Given the description of an element on the screen output the (x, y) to click on. 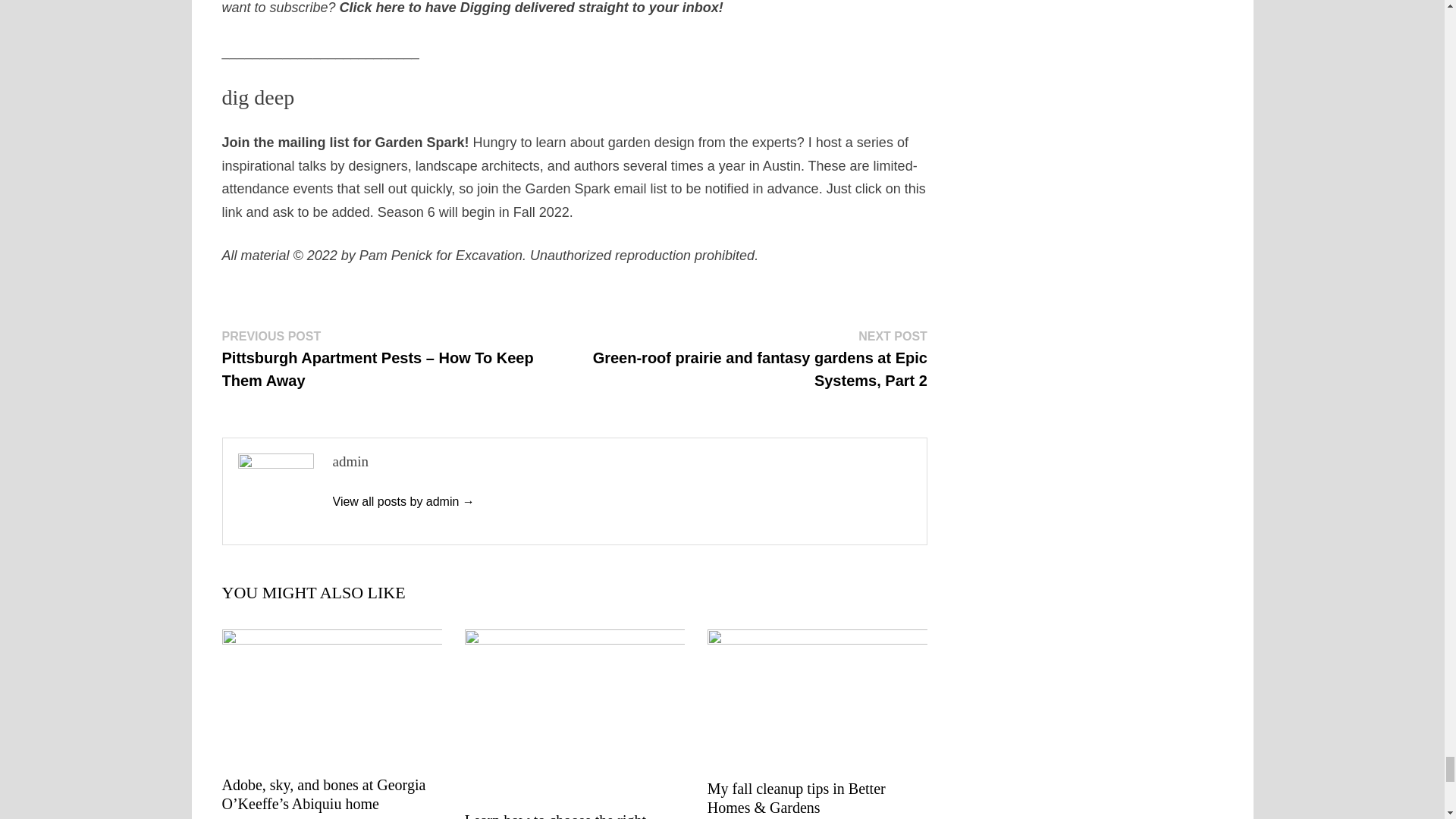
admin (402, 501)
